Given the description of an element on the screen output the (x, y) to click on. 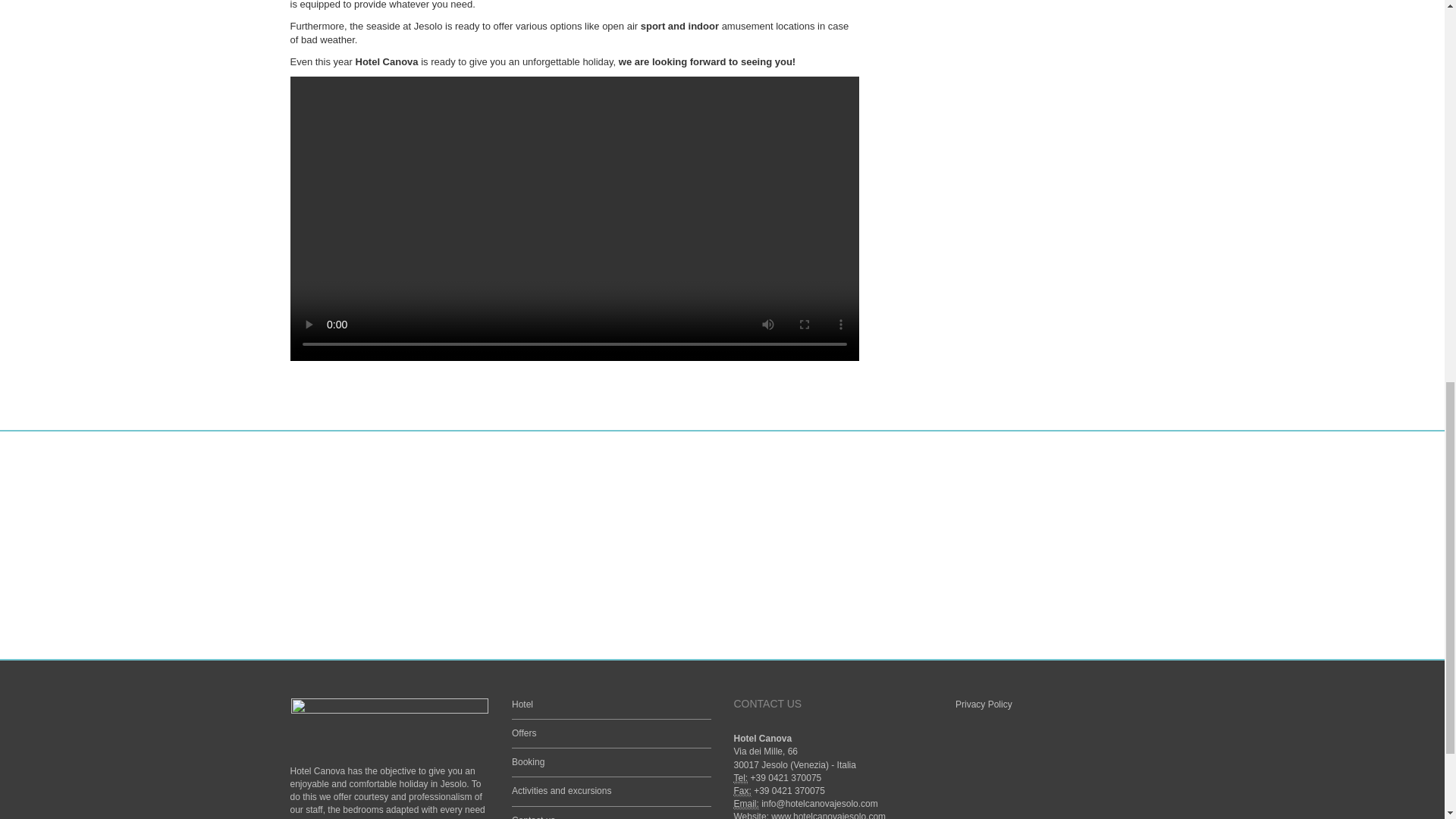
www.hotelcanovajesolo.com (828, 815)
Booking (528, 761)
Activities and excursions (561, 790)
Offers (523, 733)
Contact us (533, 816)
Privacy Policy (983, 704)
Hotel (522, 704)
